Given the description of an element on the screen output the (x, y) to click on. 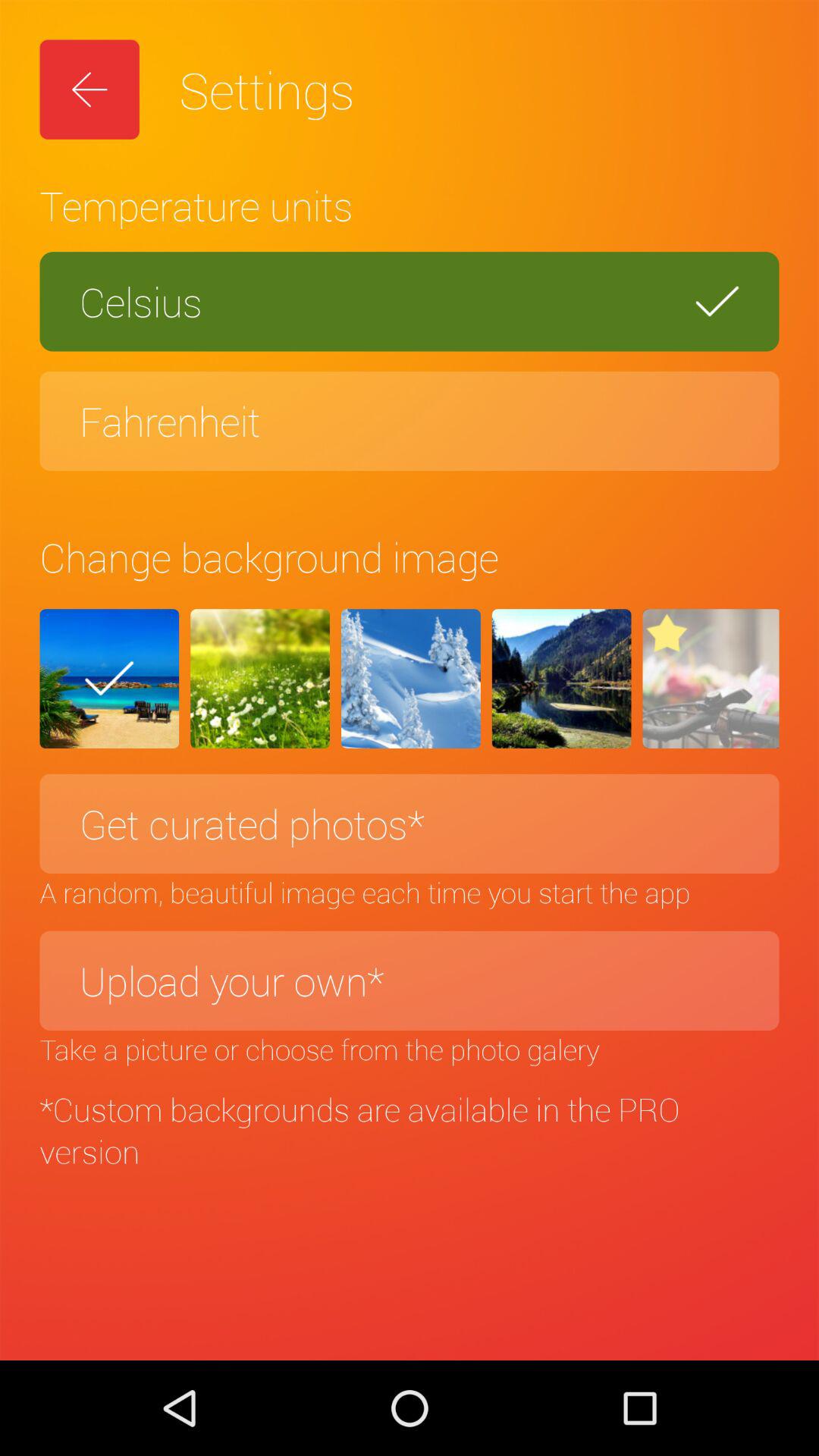
open icon below temperature units icon (409, 301)
